Given the description of an element on the screen output the (x, y) to click on. 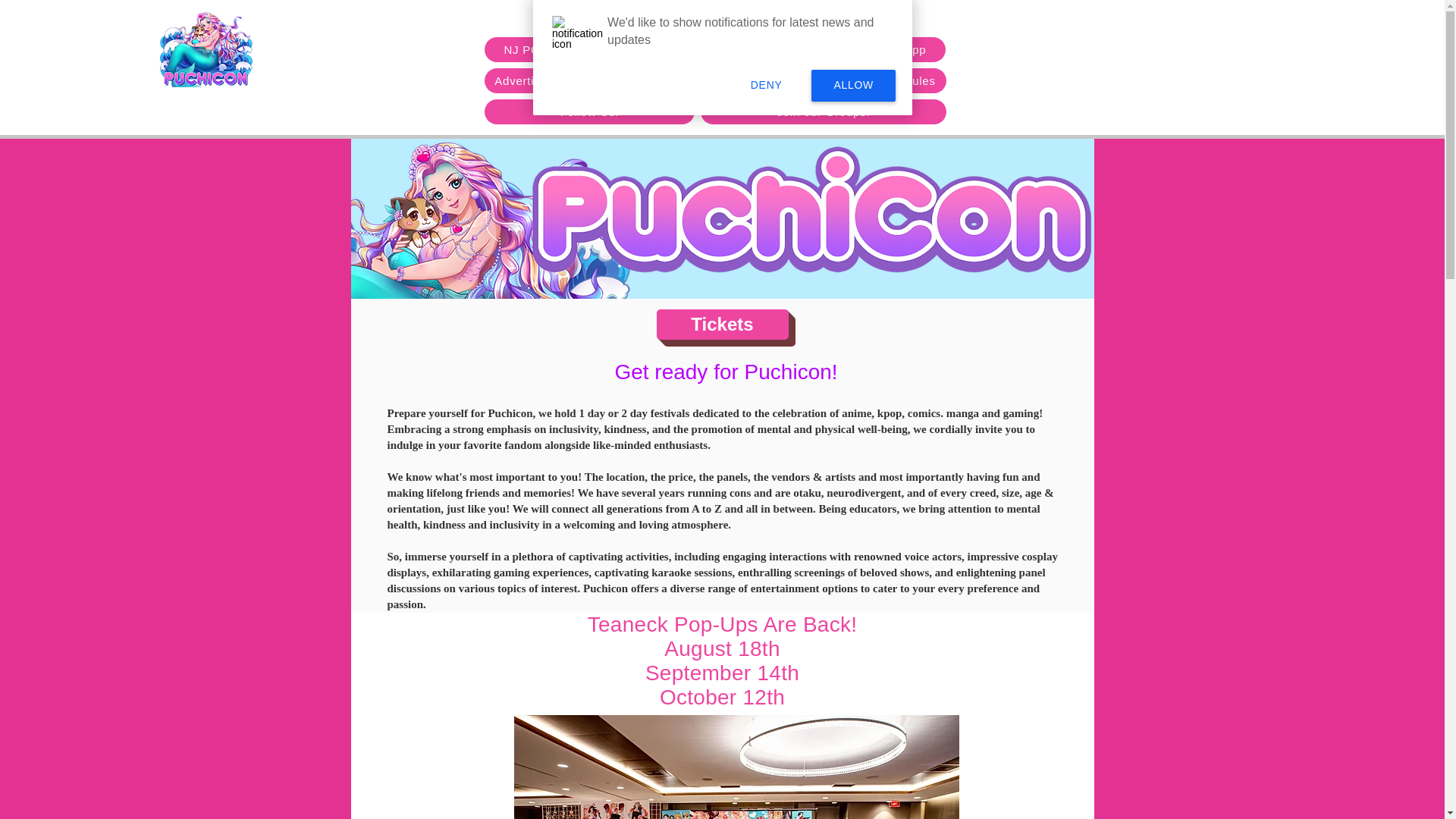
Join our Groups! (822, 111)
Cosplay Rules (894, 80)
NJ POP-UP Tickets (557, 49)
ALLOW (852, 85)
About (708, 80)
Tickets (722, 324)
Follow Us! (588, 111)
Mermaid Banner AC Cover.jpg (732, 219)
DENY (767, 85)
Contact (642, 80)
Advertise with us! (543, 80)
Our Sponsors (788, 80)
POP-UP Panel App (872, 49)
POP-UP Vendor App (716, 49)
